Given the description of an element on the screen output the (x, y) to click on. 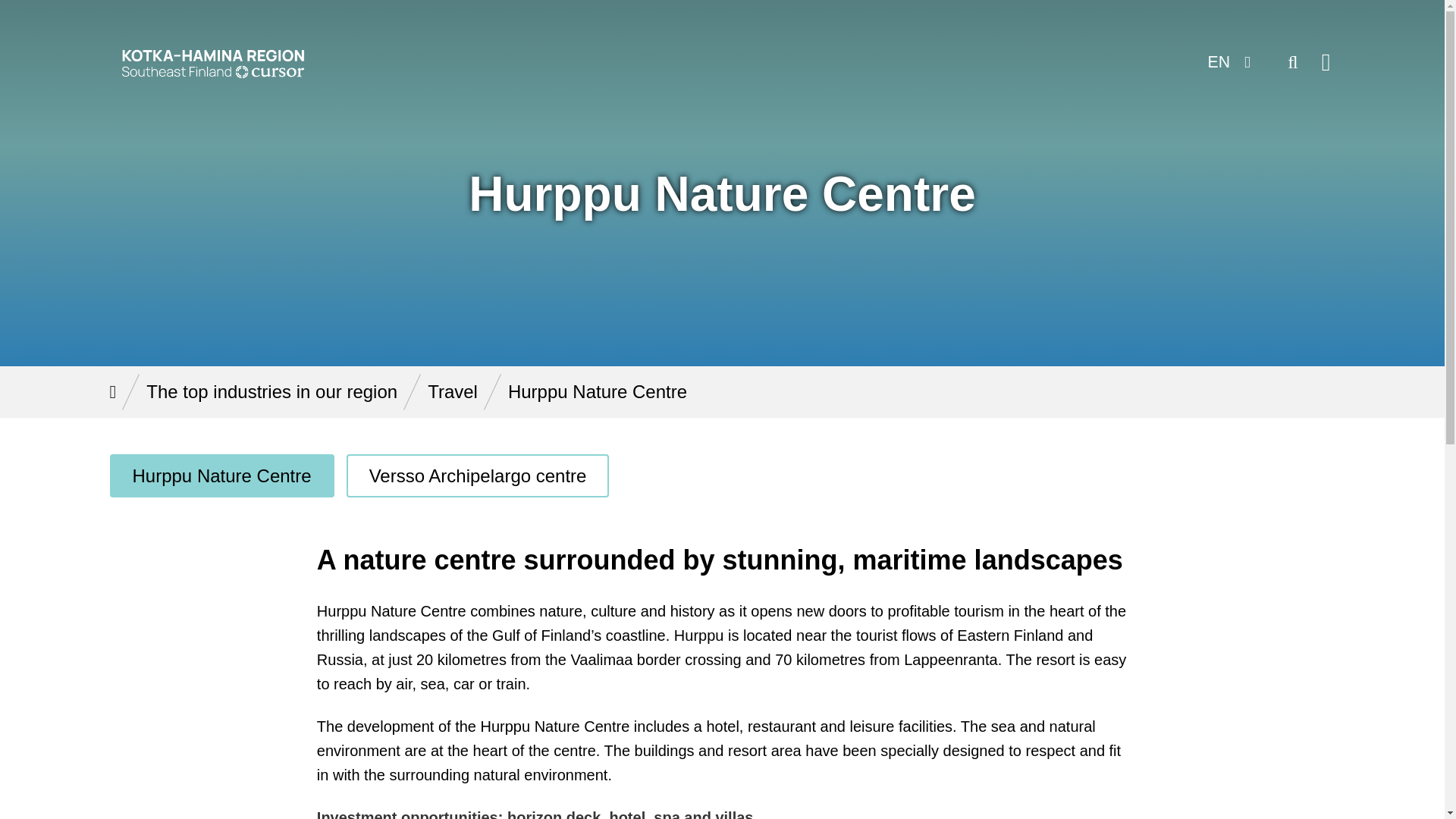
Versso Archipelargo centre (478, 475)
EN (1227, 62)
Hurppu Nature Centre (221, 475)
Search (1292, 62)
Travel (452, 391)
The top industries in our region (272, 391)
